Given the description of an element on the screen output the (x, y) to click on. 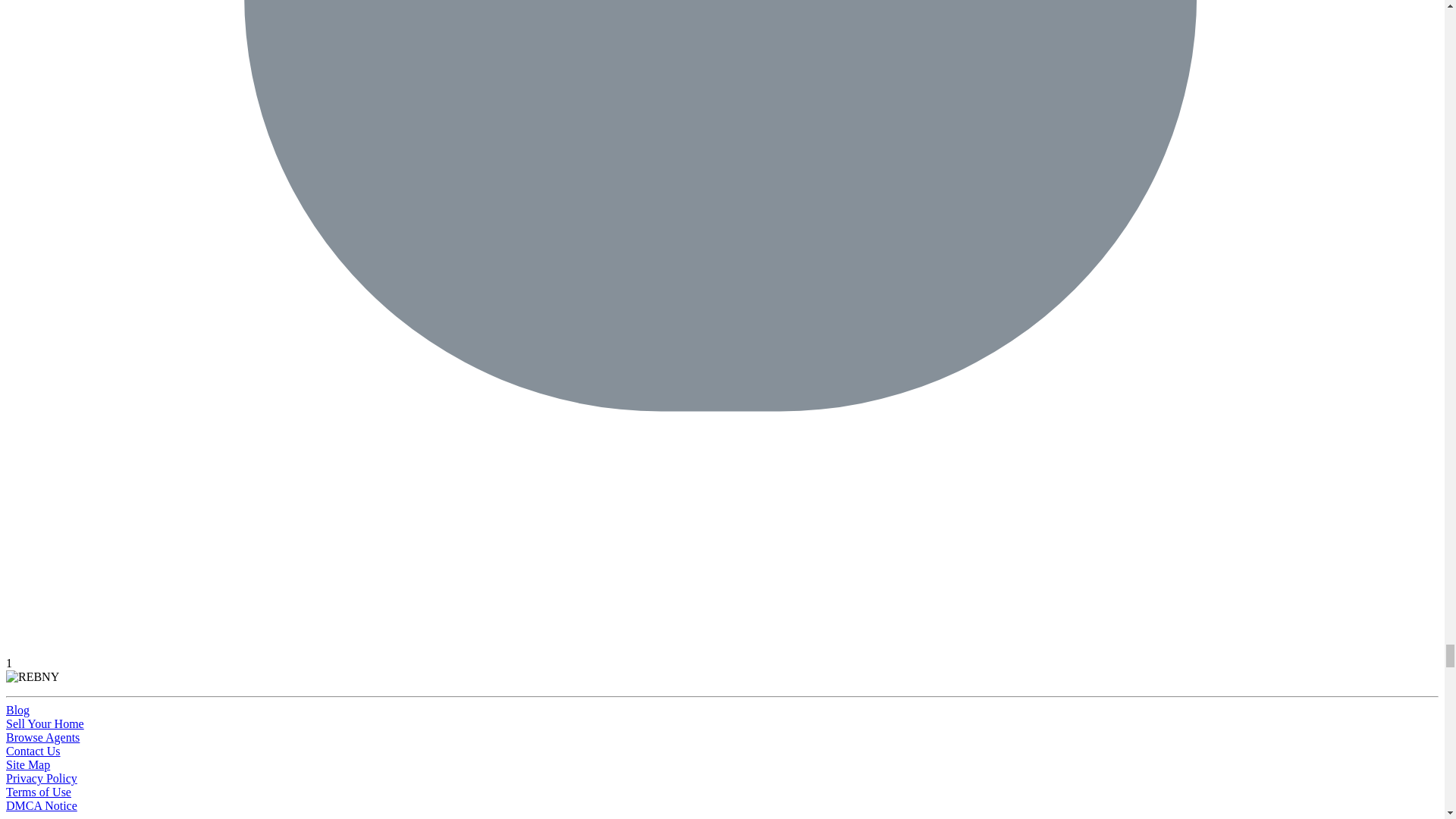
Contact Us (33, 750)
Browse Agents (42, 737)
Blog (17, 709)
Sell Your Home (44, 723)
Site Map (27, 764)
Privacy Policy (41, 778)
